Given the description of an element on the screen output the (x, y) to click on. 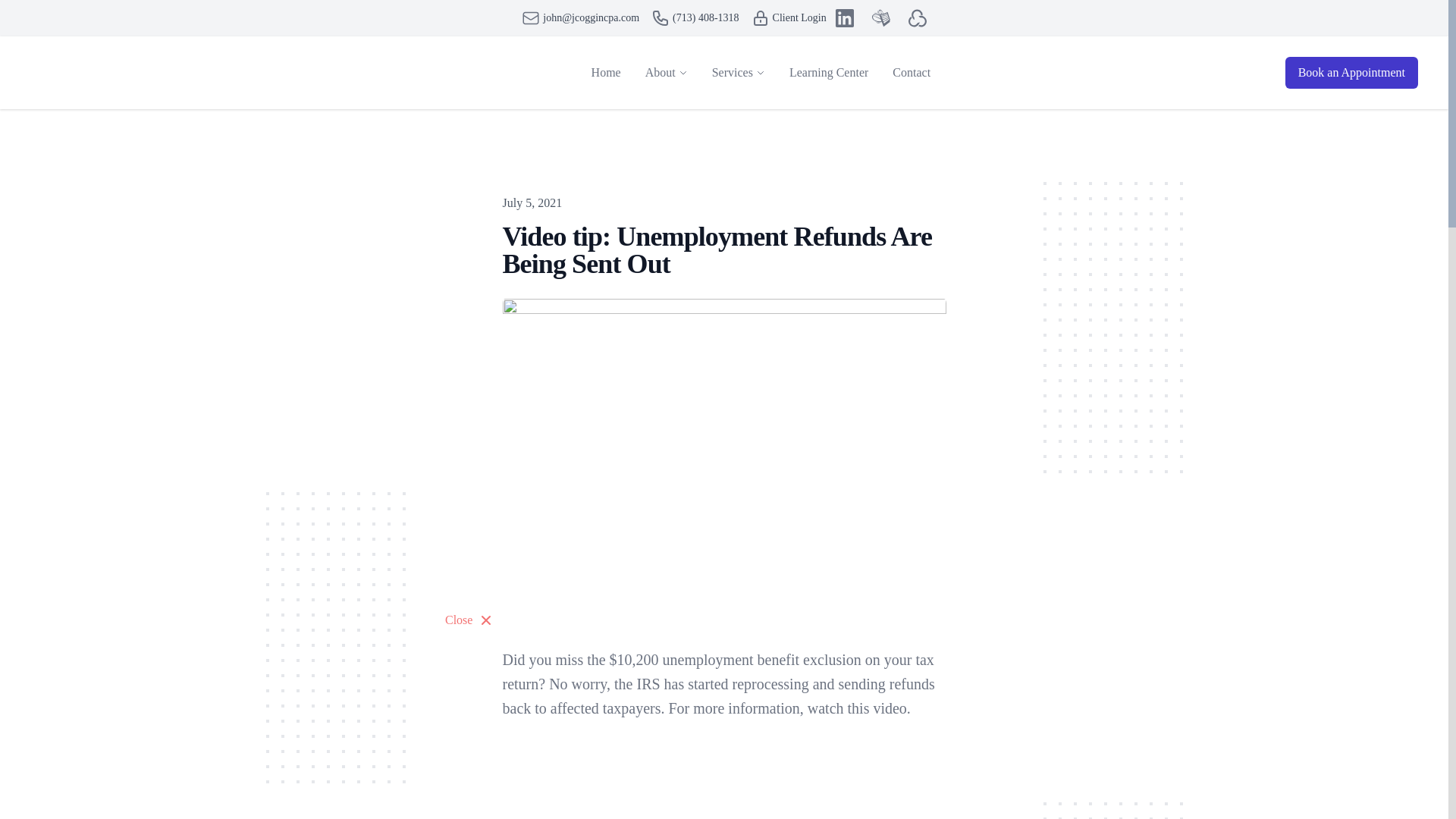
phone (659, 18)
Client Login (760, 18)
LinkedIn (844, 18)
Contact (911, 72)
Client Login (789, 18)
About  (660, 72)
Book an Appointment (1351, 72)
Home (606, 72)
Learning Center (828, 72)
Taxbuzz (880, 18)
